Given the description of an element on the screen output the (x, y) to click on. 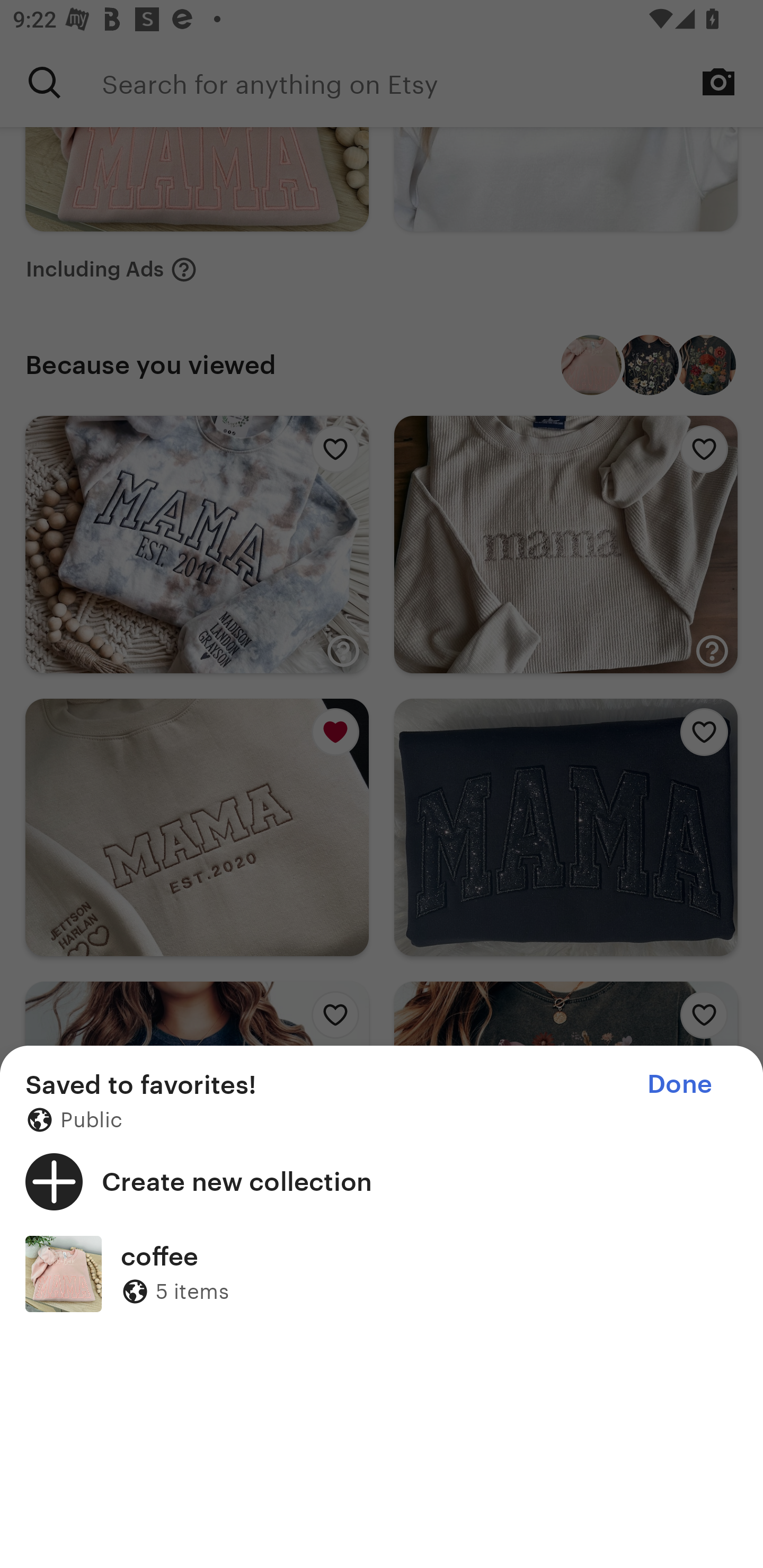
Done (679, 1083)
Create new collection (381, 1181)
coffee 5 items (381, 1273)
